Given the description of an element on the screen output the (x, y) to click on. 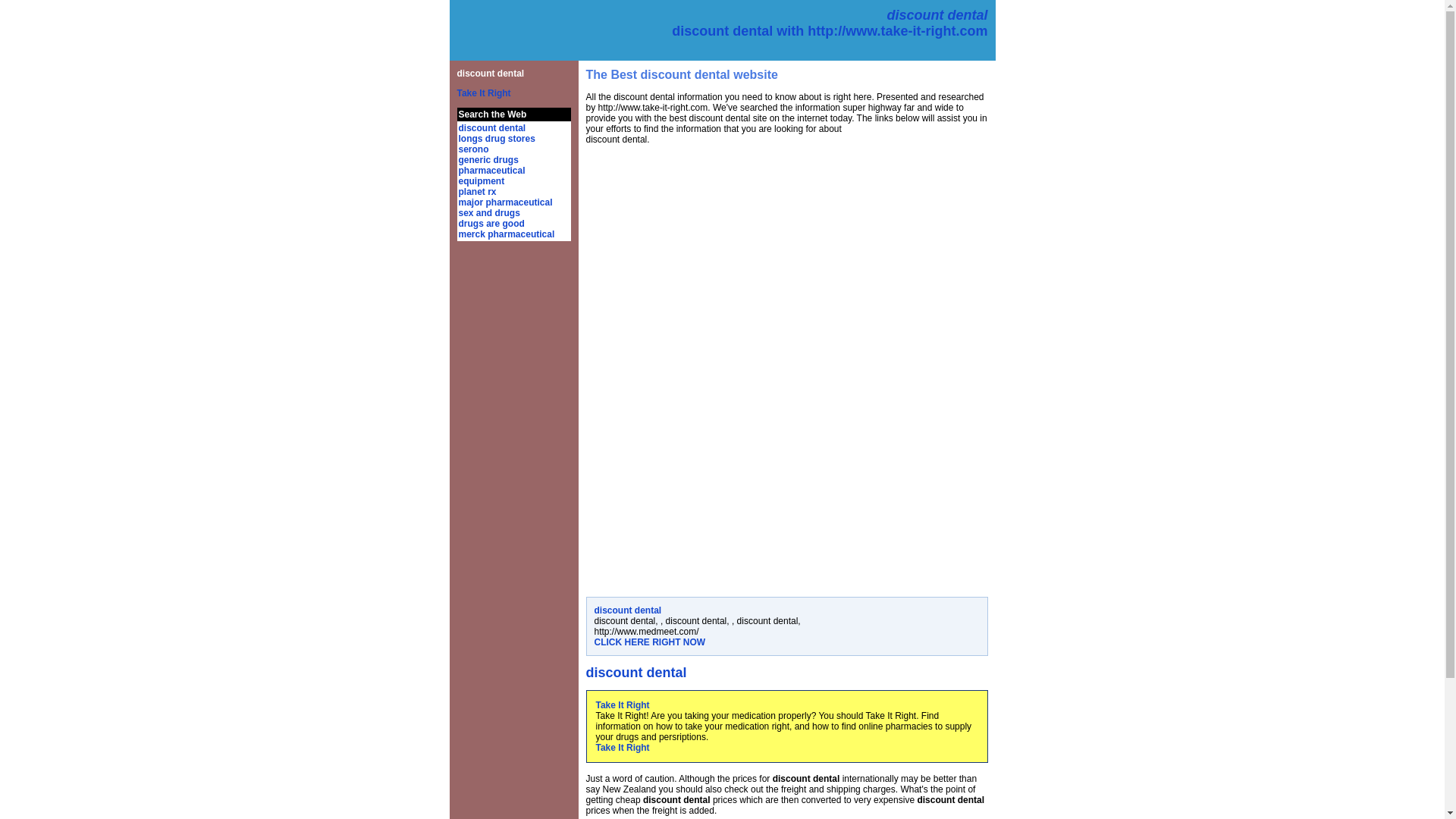
pharmaceutical equipment (491, 175)
major pharmaceutical (504, 202)
discount dental (628, 610)
generic drugs (488, 159)
longs drug stores (496, 138)
discount dental (490, 72)
CLICK HERE RIGHT NOW (650, 642)
Take It Right (622, 705)
sex and drugs (488, 213)
drugs are good (491, 223)
serono (472, 149)
Advertisement (712, 481)
planet rx (477, 191)
discount dental (491, 127)
merck pharmaceutical (506, 234)
